Given the description of an element on the screen output the (x, y) to click on. 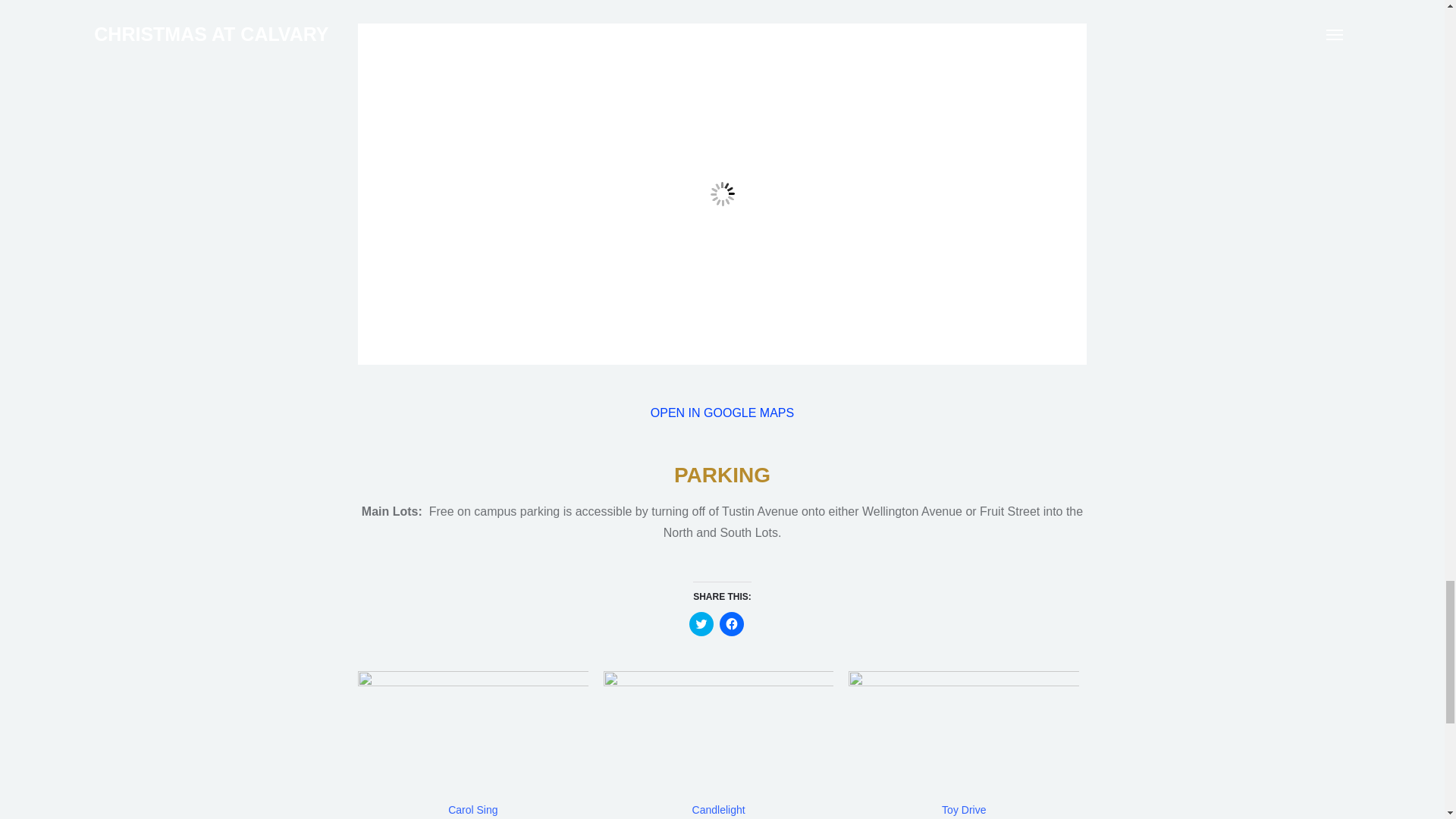
Candlelight (719, 809)
Click to share on Twitter (700, 623)
Carol Sing (472, 809)
Candlelight (719, 736)
Candlelight (719, 809)
Toy Drive (963, 736)
Carol Sing (473, 736)
Carol Sing (472, 809)
Toy Drive (963, 809)
OPEN IN GOOGLE MAPS (721, 412)
